Given the description of an element on the screen output the (x, y) to click on. 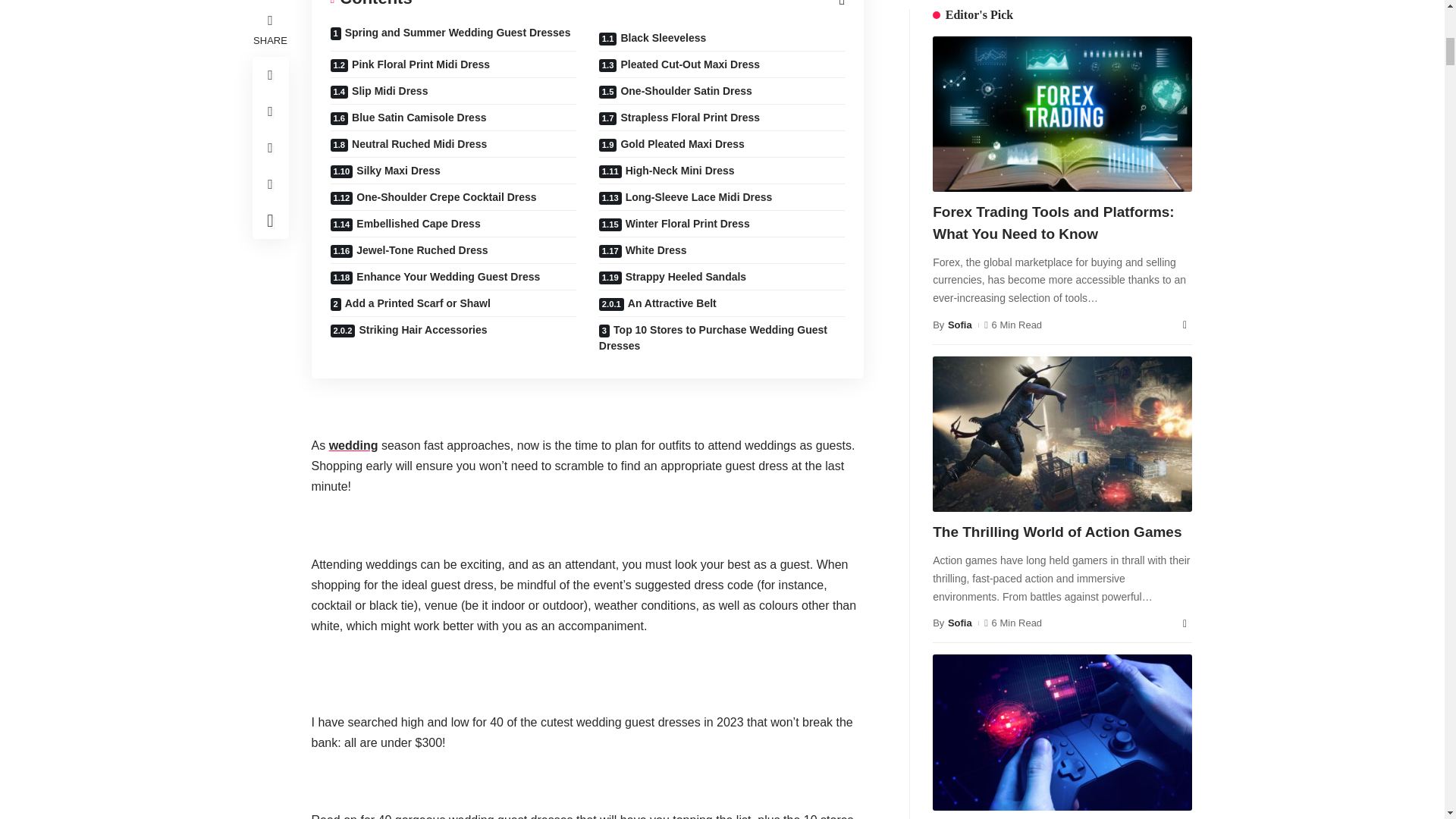
Forex Trading Tools and Platforms: What You Need to Know (989, 525)
The Thrilling World of Action Games (1134, 525)
The Thrilling World of Action Games (1062, 18)
How Mobile Games Are Revolutionizing Gaming Culture (1134, 783)
The Evolution of Gaming: Exploring New Frontiers (1062, 255)
The Evolution of Gaming: Exploring New Frontiers (989, 783)
